Given the description of an element on the screen output the (x, y) to click on. 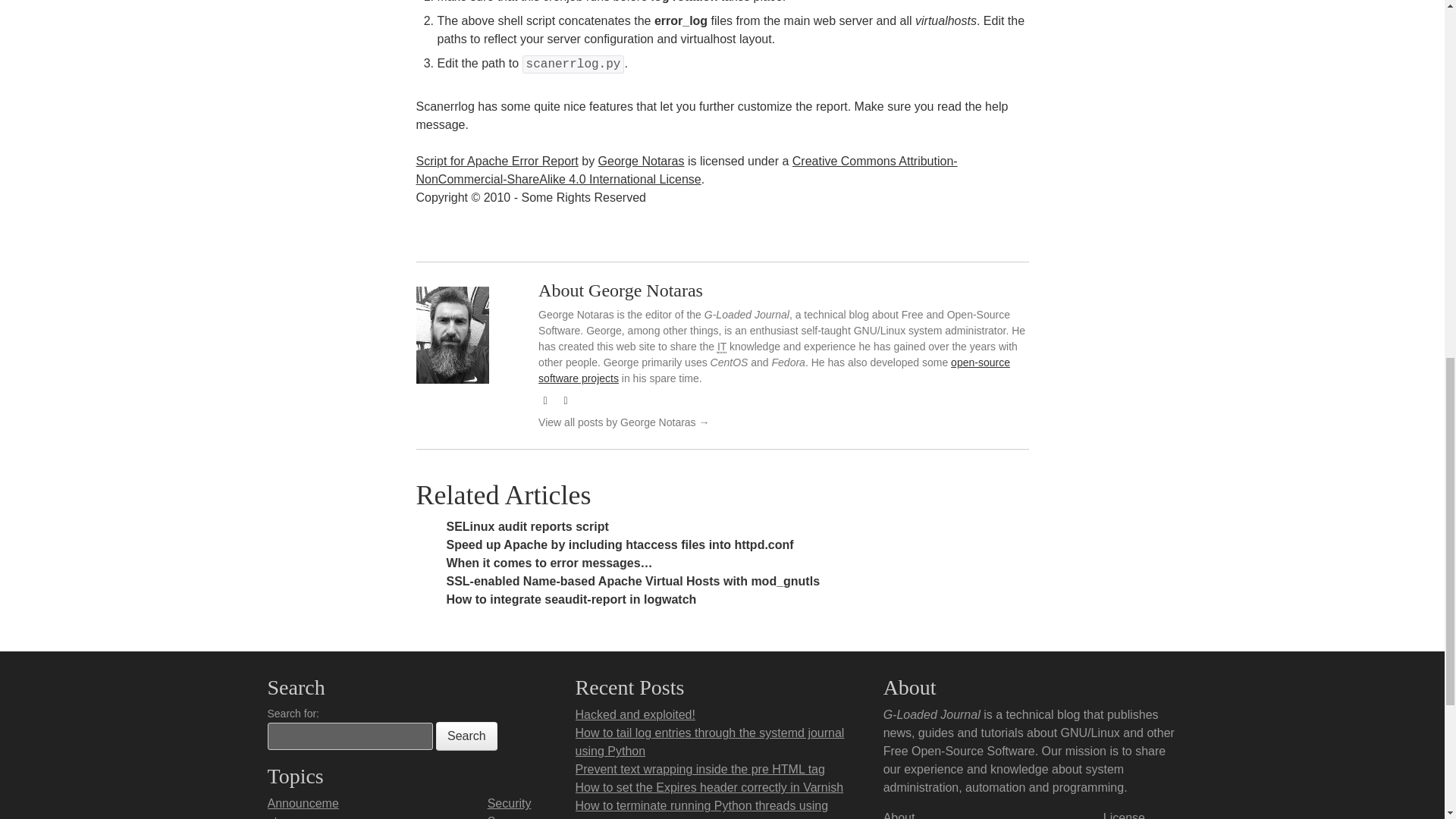
Search (466, 736)
How to integrate seaudit-report in logwatch (570, 599)
Script for Apache Error Report (496, 160)
Announcements (301, 807)
Search (466, 736)
open-source software projects (774, 370)
SELinux audit reports script (526, 526)
Permalink to Script for Apache Error Report (496, 160)
George Notaras (641, 160)
